Given the description of an element on the screen output the (x, y) to click on. 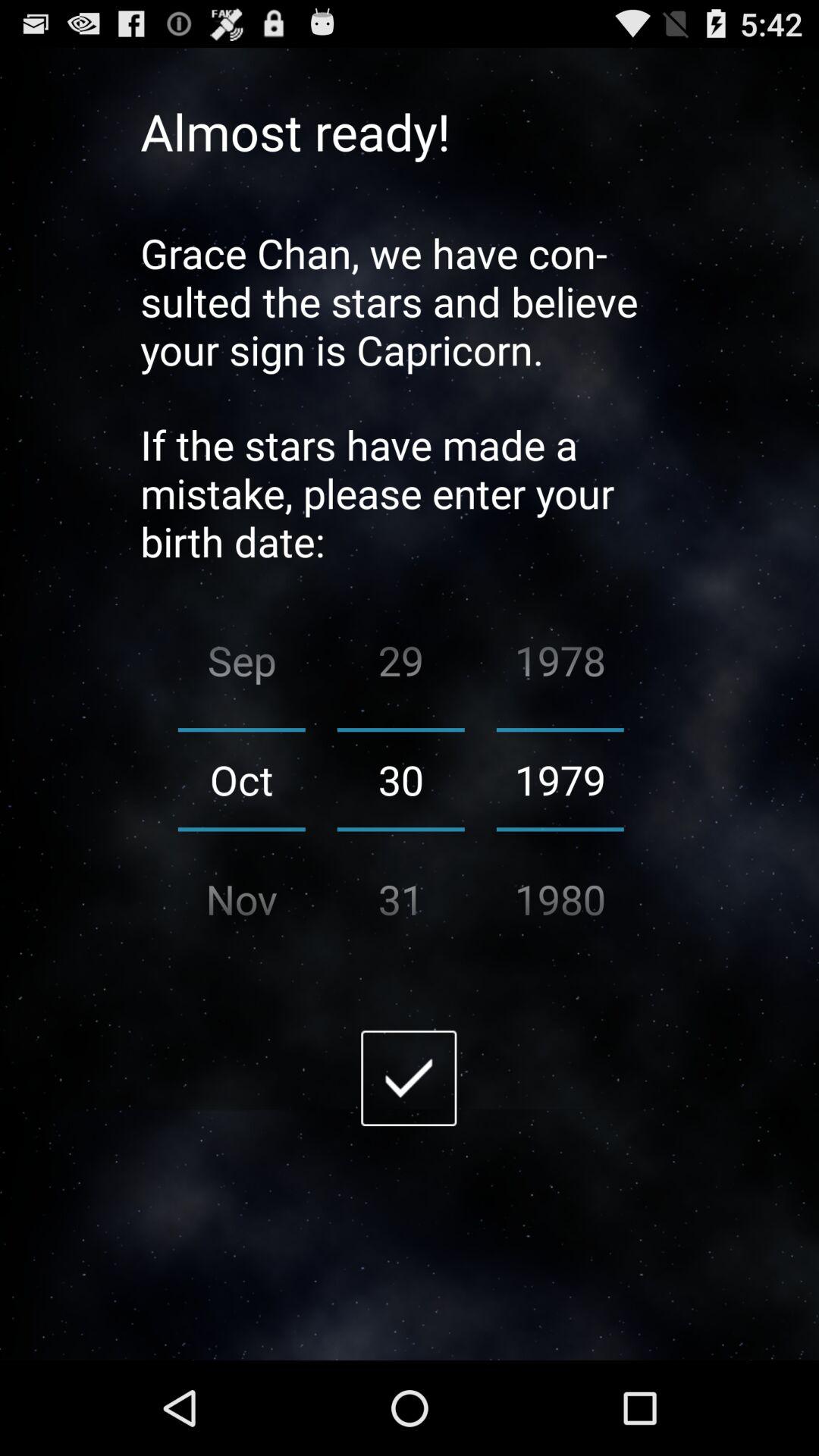
continue (408, 1078)
